Given the description of an element on the screen output the (x, y) to click on. 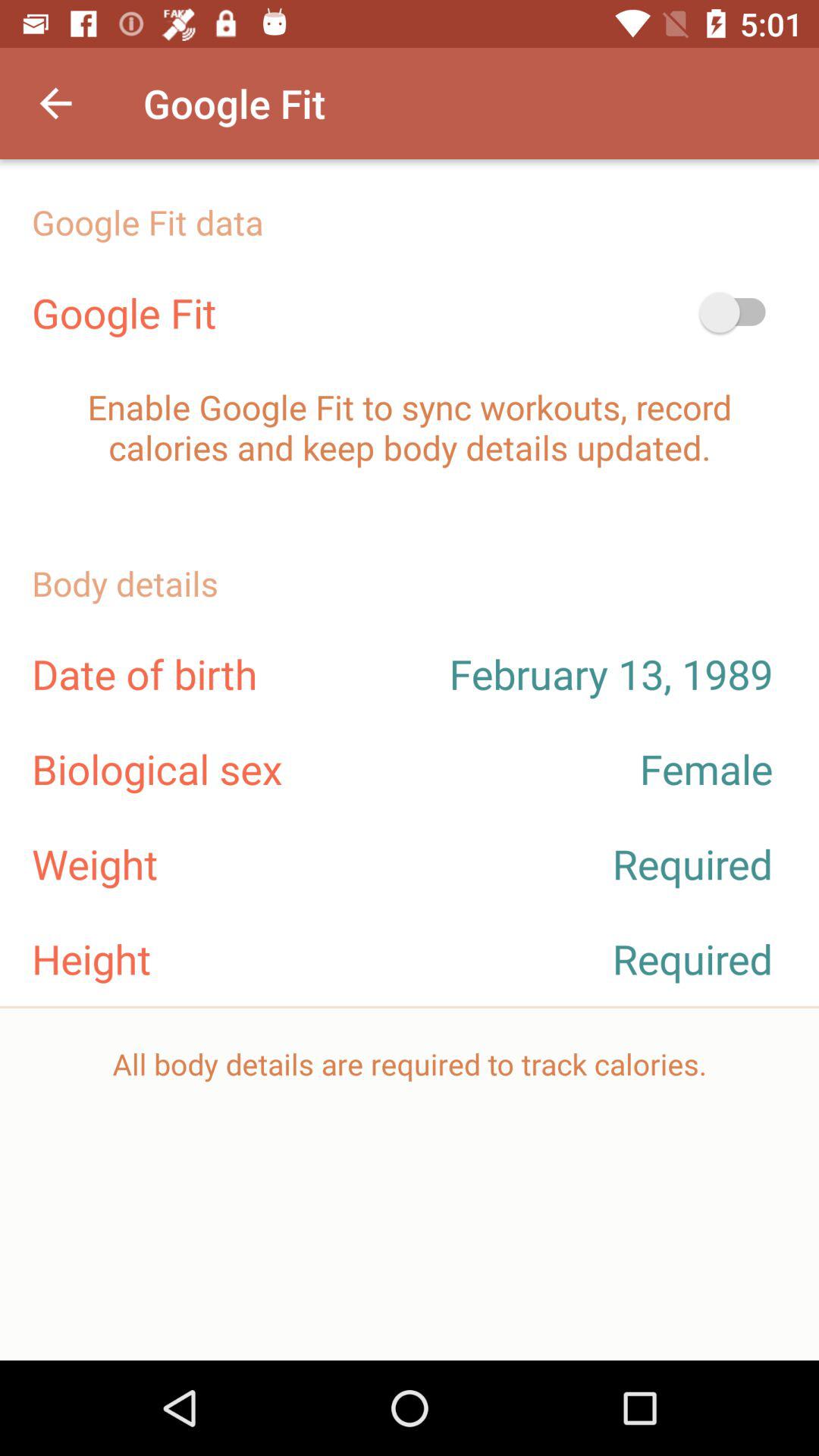
open the item to the left of the google fit item (55, 103)
